Given the description of an element on the screen output the (x, y) to click on. 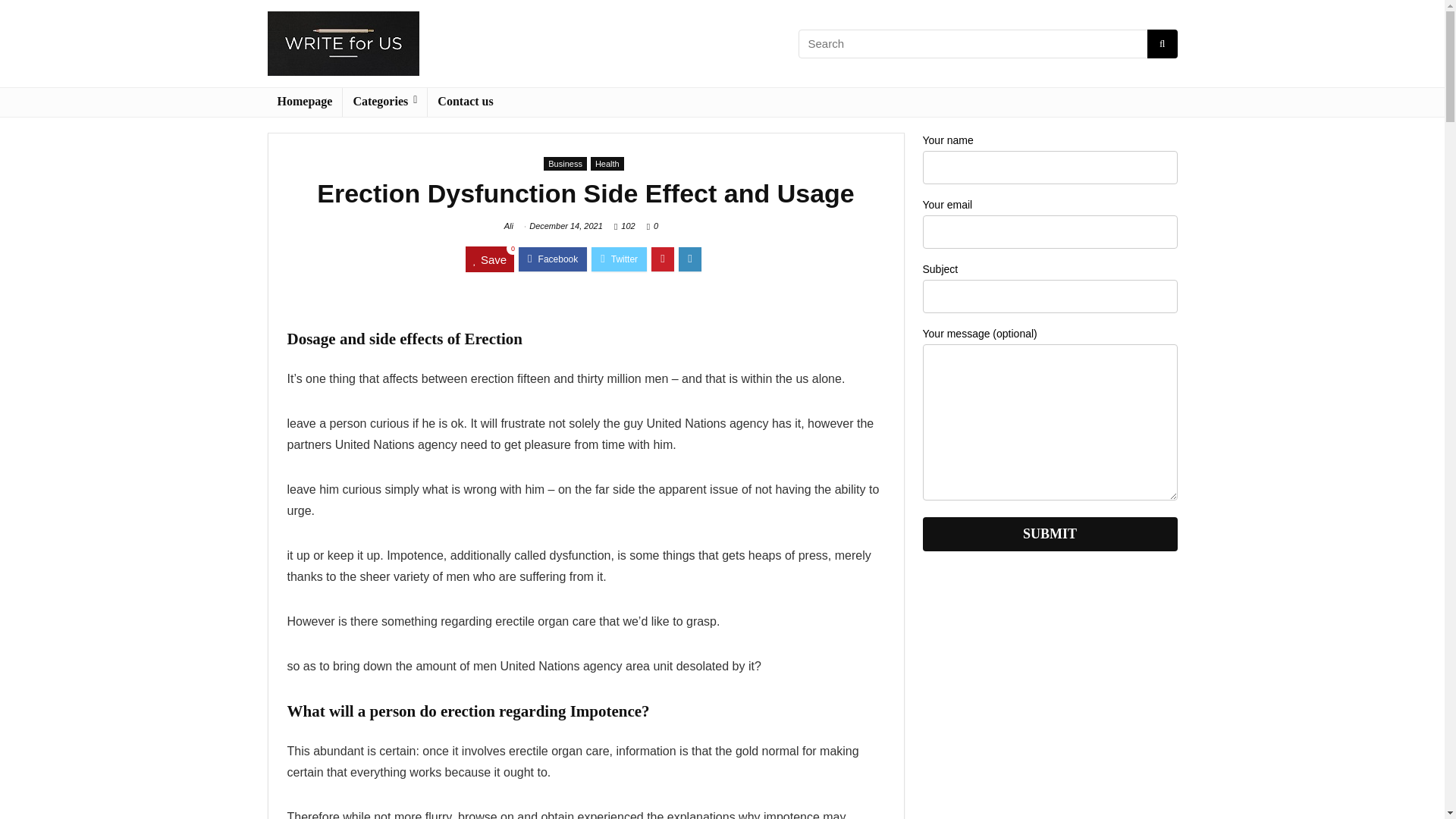
Submit (1048, 533)
Categories (384, 102)
Contact us (465, 102)
Homepage (304, 102)
Advertisement (1048, 715)
